Given the description of an element on the screen output the (x, y) to click on. 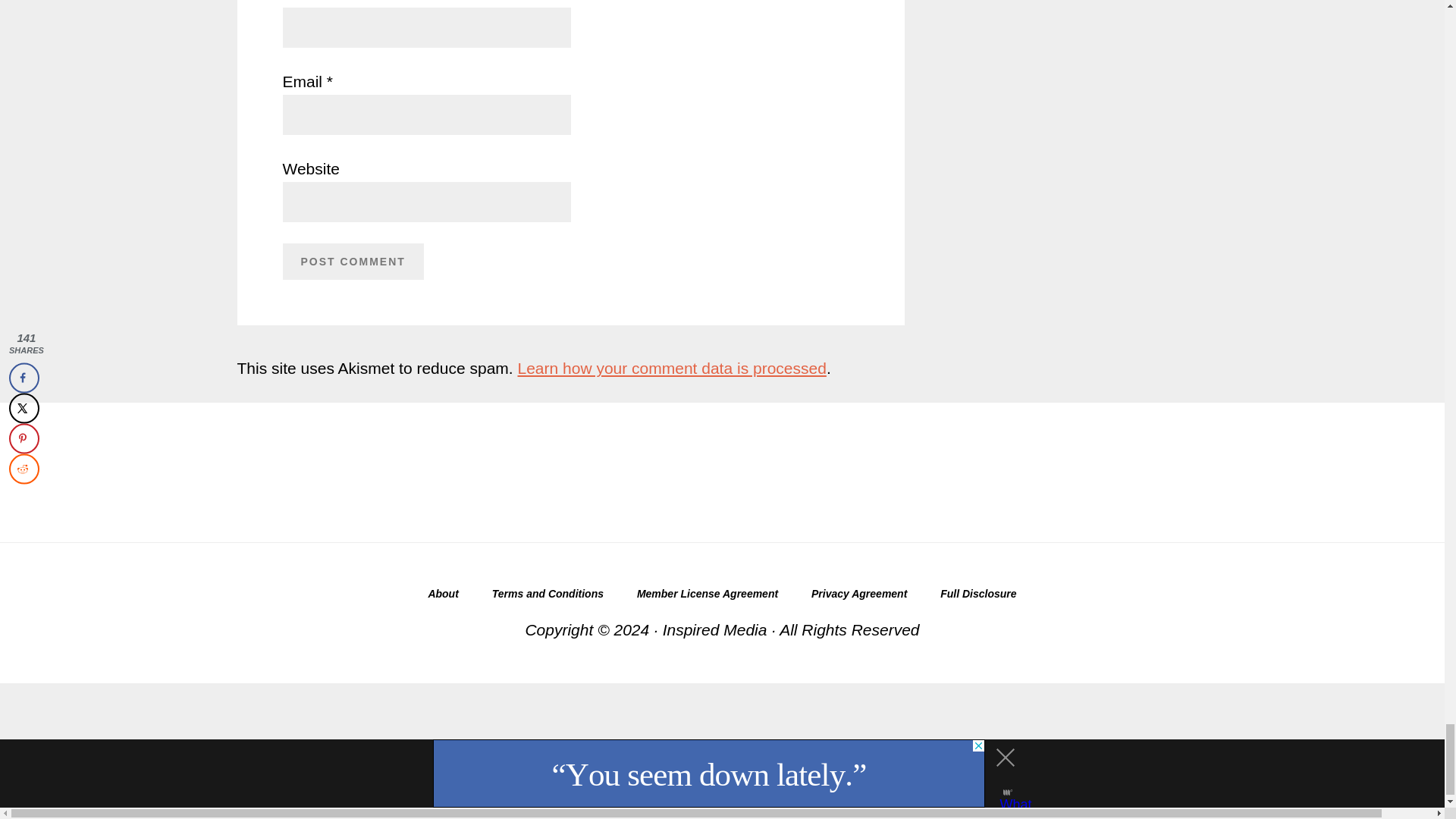
Post Comment (352, 261)
